Given the description of an element on the screen output the (x, y) to click on. 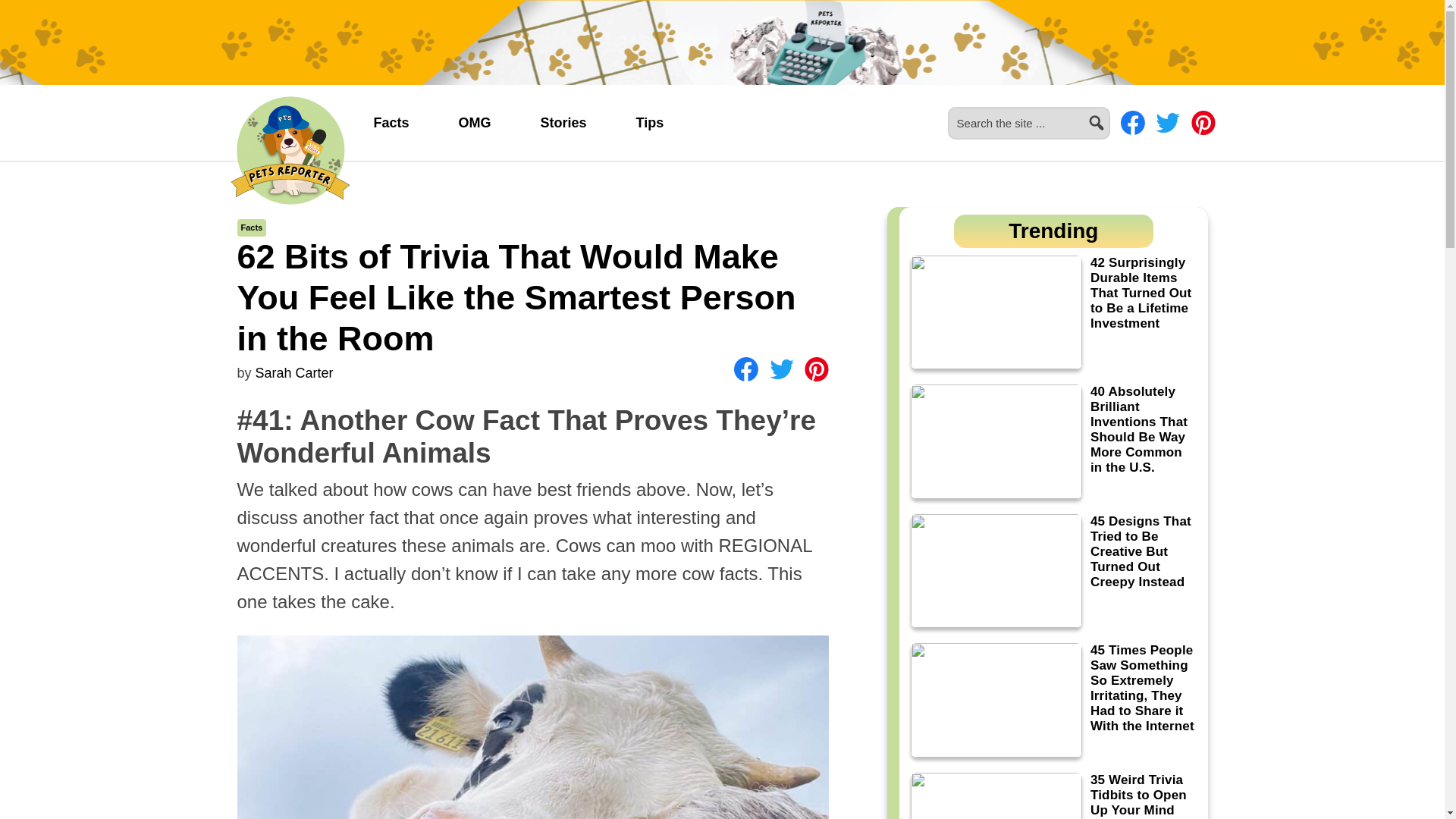
Facts (252, 226)
Search (1116, 113)
Stories (564, 122)
Search (1116, 113)
Search (1116, 113)
Sarah Carter (294, 372)
Facts (390, 122)
OMG (474, 122)
Tips (649, 122)
